Given the description of an element on the screen output the (x, y) to click on. 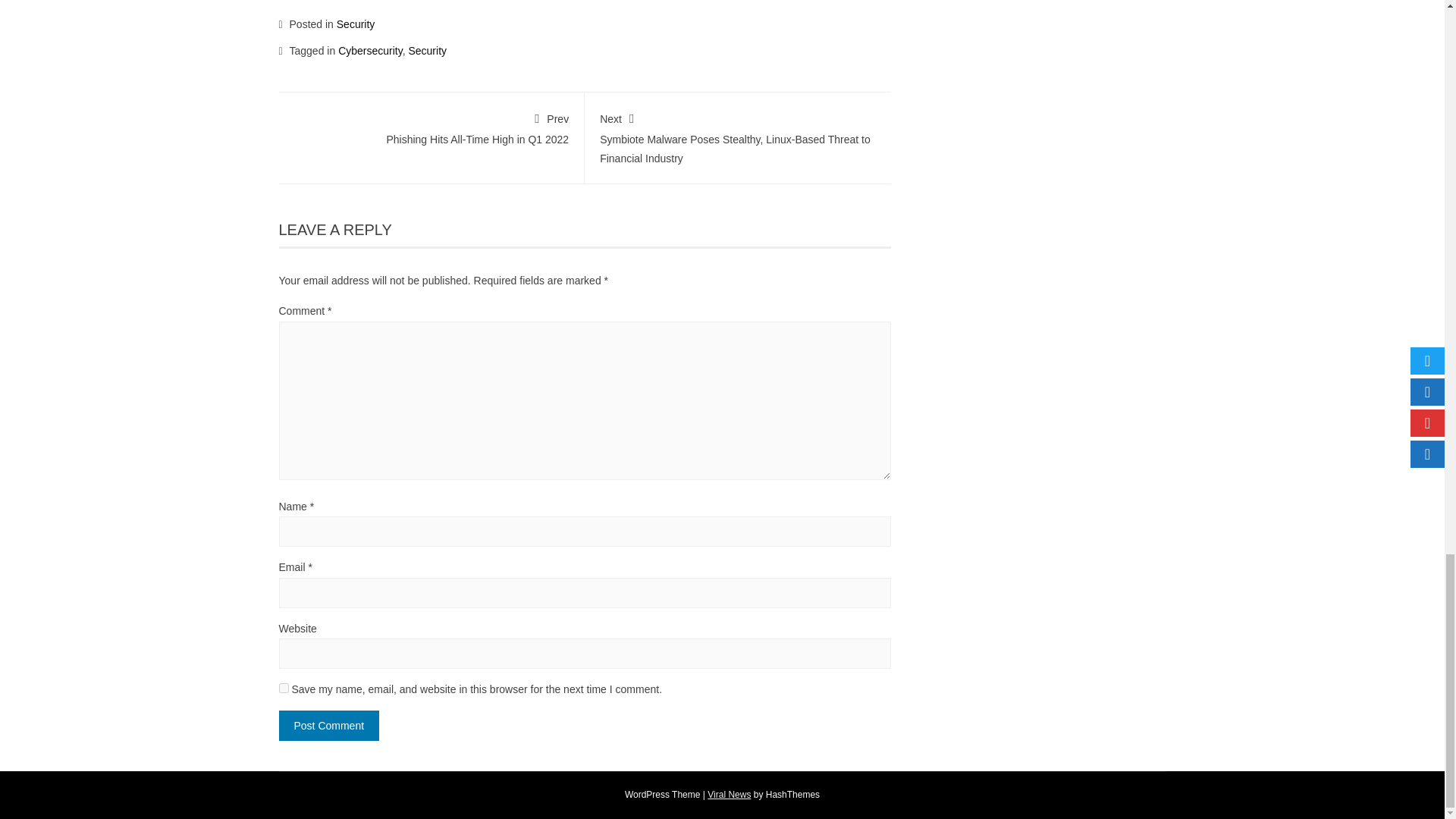
yes (283, 687)
Post Comment (329, 725)
Download Viral News (729, 794)
